Given the description of an element on the screen output the (x, y) to click on. 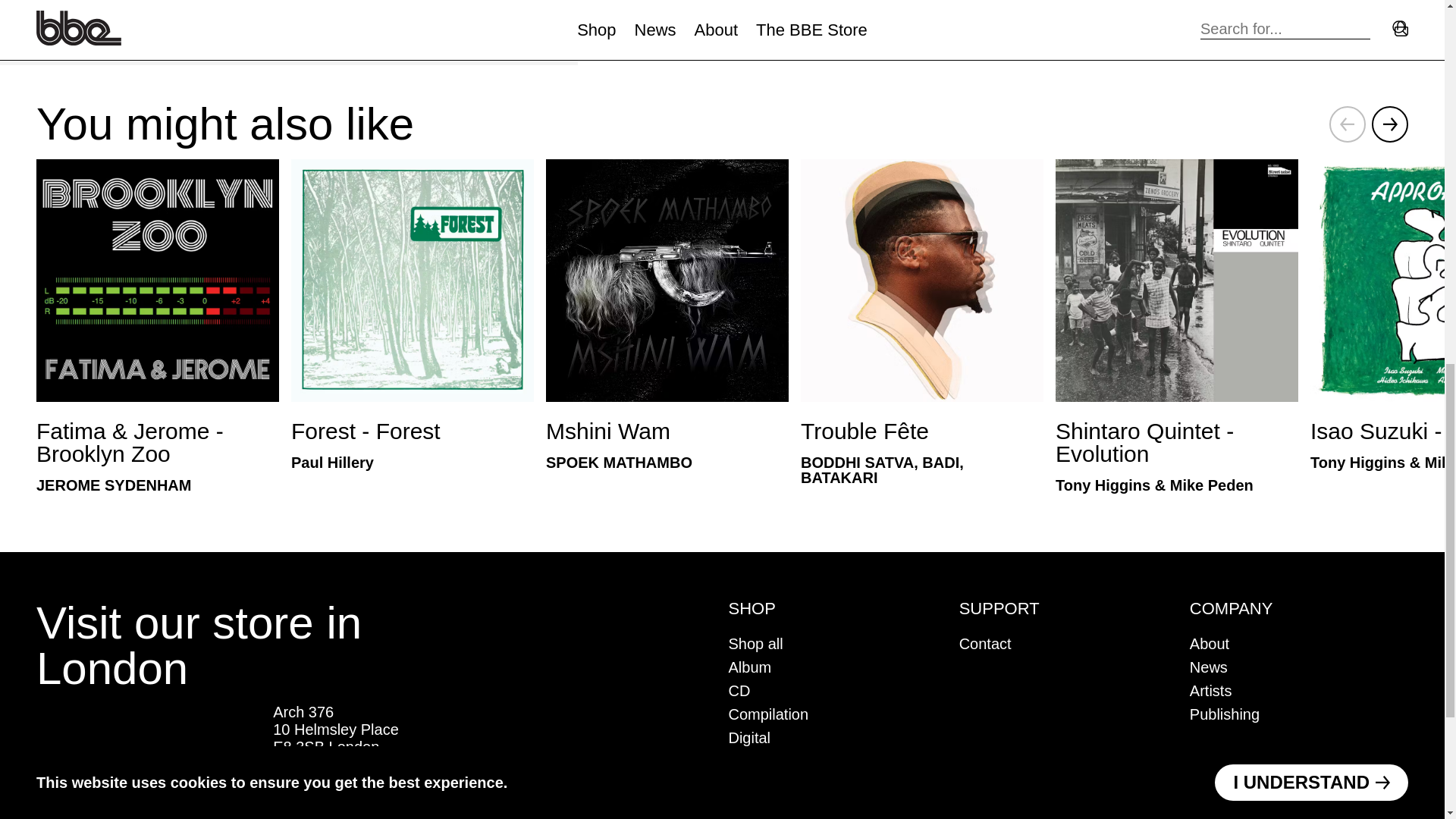
Compilation (768, 713)
Album (749, 667)
CD (738, 690)
Digital (749, 737)
The BBE Store in GQ Magazine (148, 754)
Shop all (755, 643)
